Given the description of an element on the screen output the (x, y) to click on. 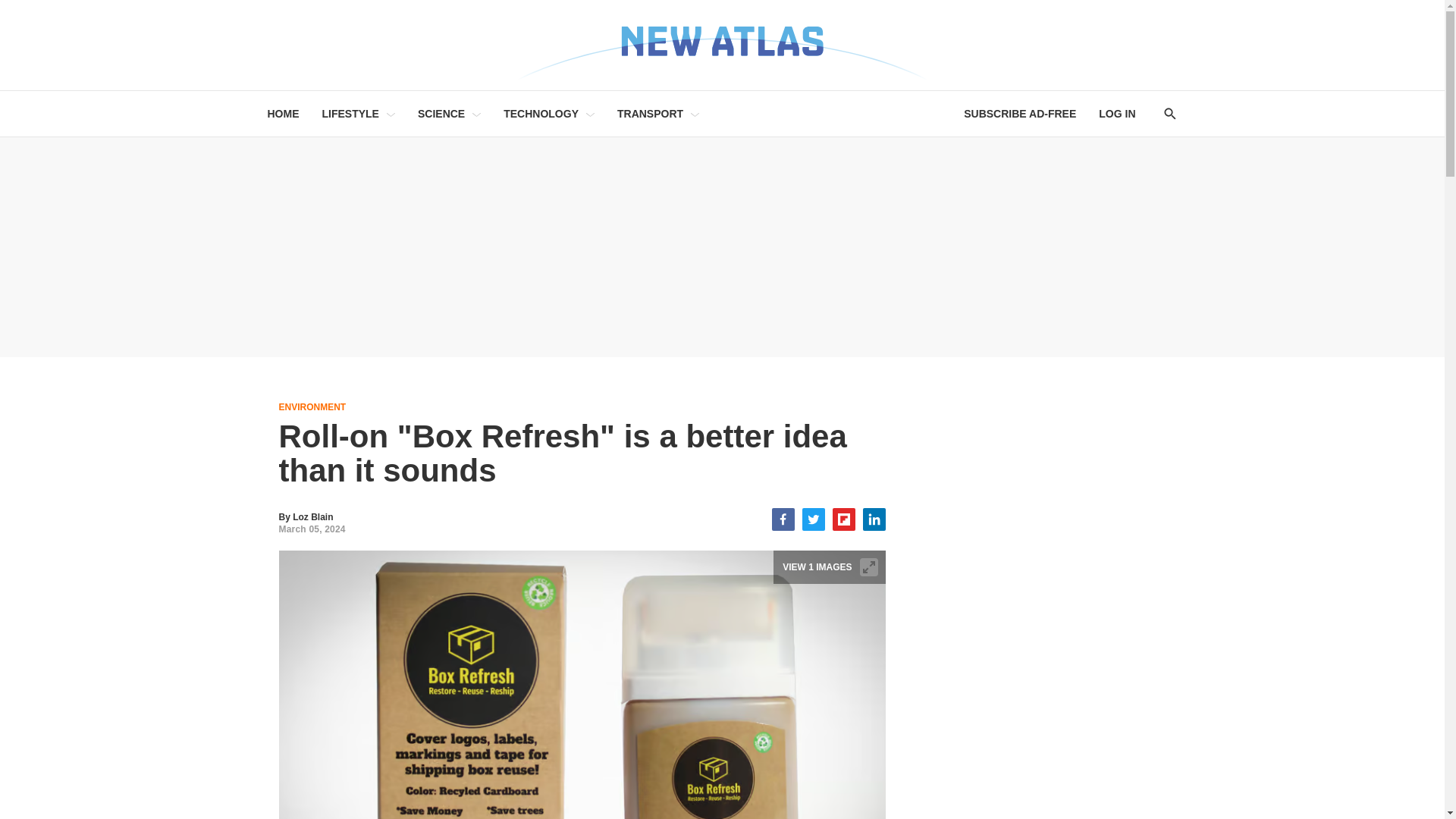
View full-screen (868, 566)
